Given the description of an element on the screen output the (x, y) to click on. 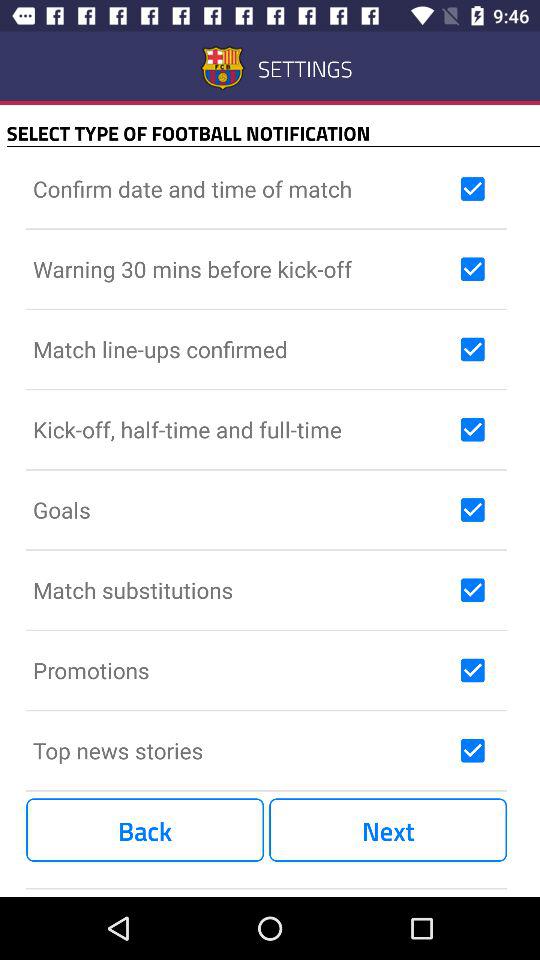
toggle notification for top news stories (472, 750)
